Given the description of an element on the screen output the (x, y) to click on. 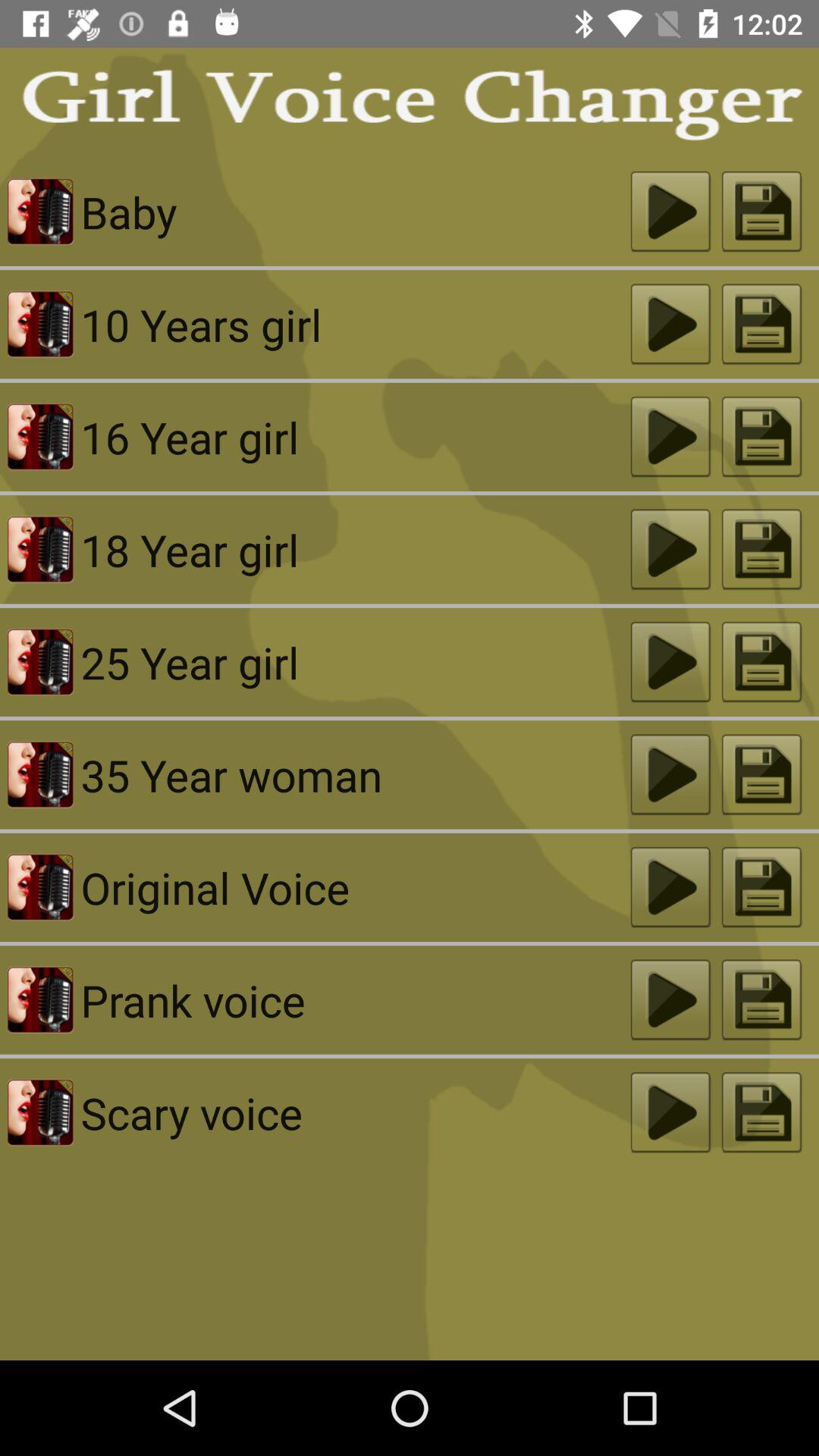
jump until prank voice item (355, 999)
